Given the description of an element on the screen output the (x, y) to click on. 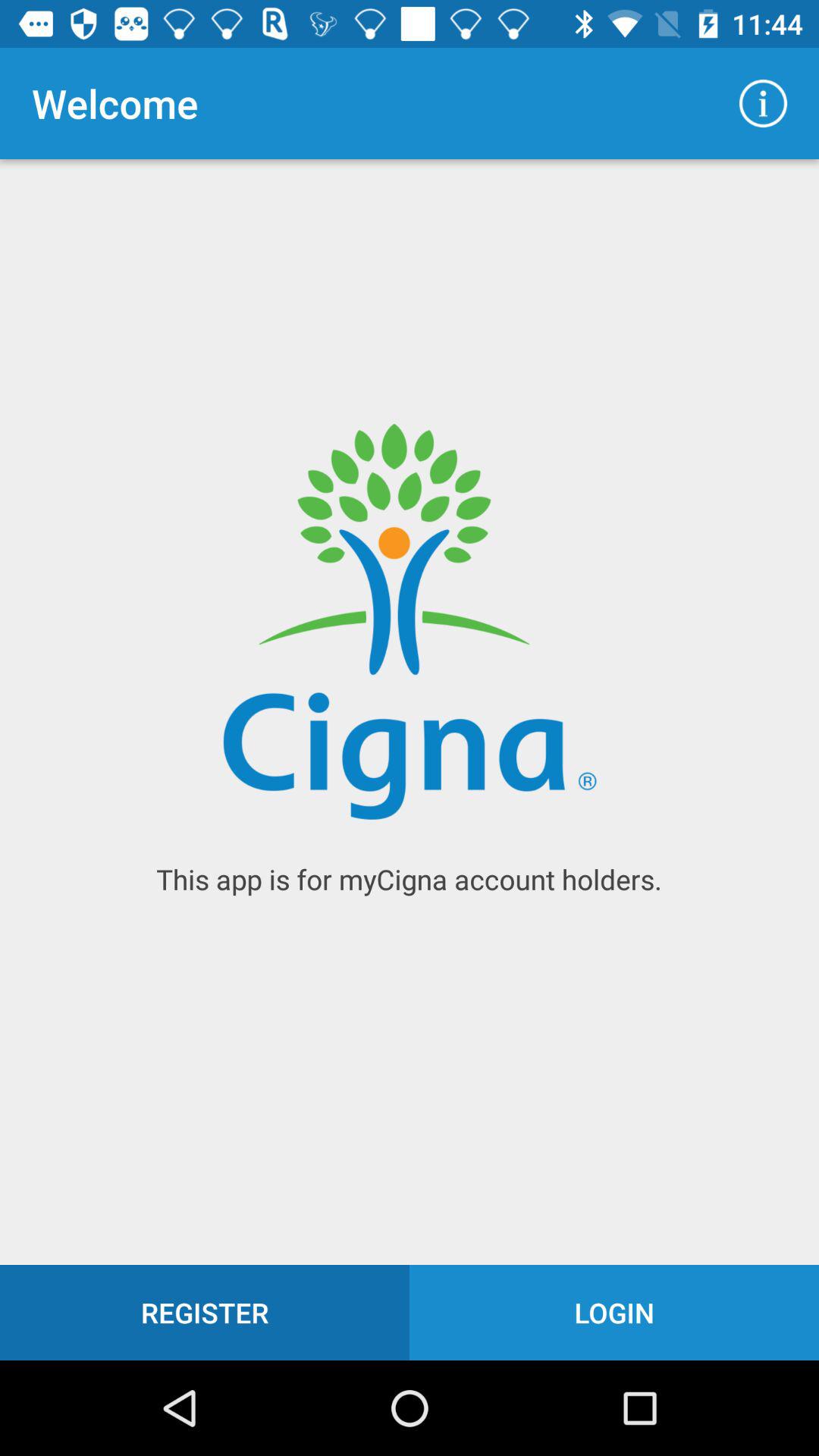
turn off the icon above the login item (763, 103)
